Given the description of an element on the screen output the (x, y) to click on. 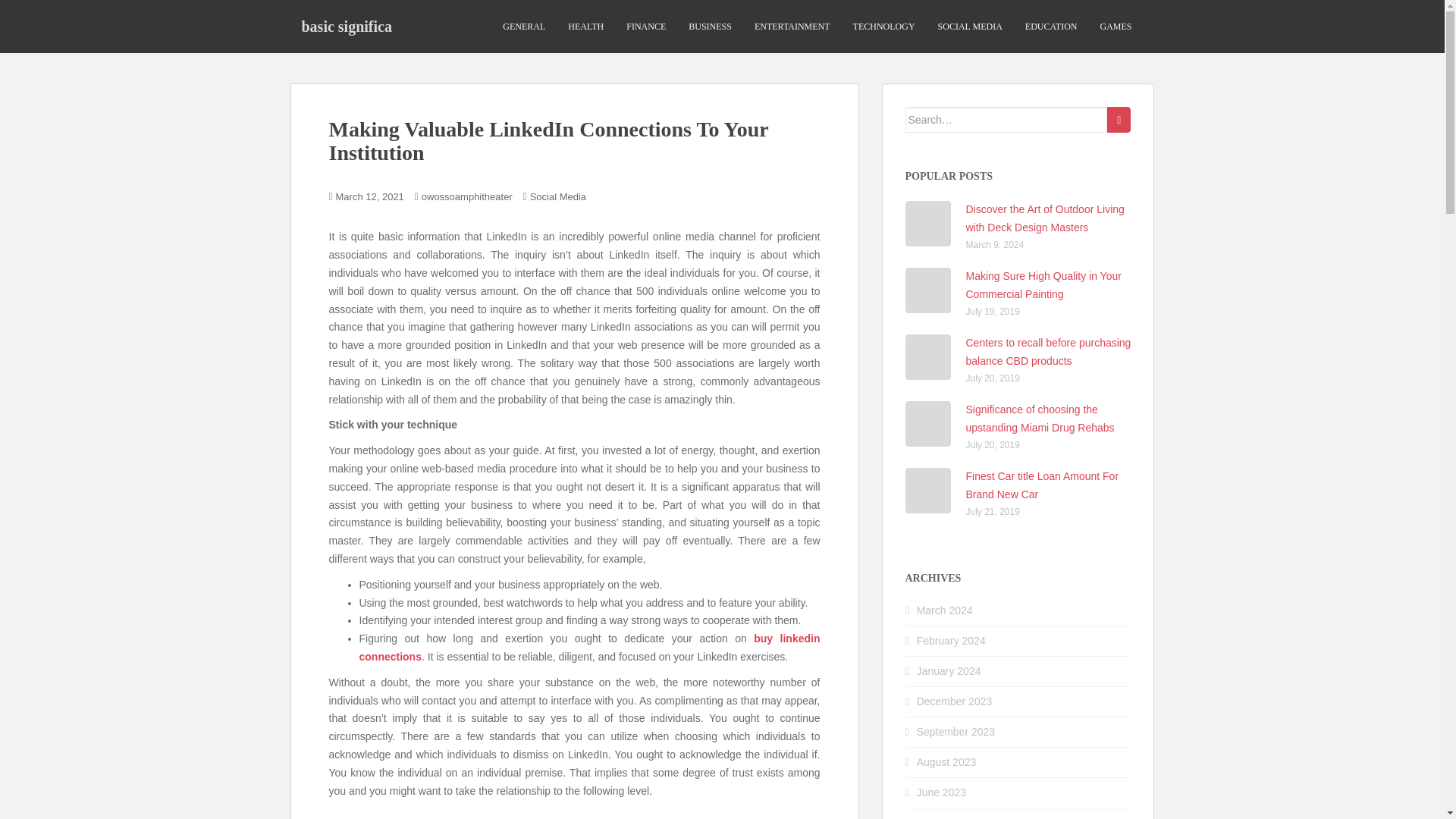
Discover the Art of Outdoor Living with Deck Design Masters (1045, 218)
February 2024 (951, 640)
Social Media (557, 196)
GENERAL (523, 26)
basic significa (346, 26)
Search for: (1006, 119)
March 2024 (944, 610)
TECHNOLOGY (884, 26)
May 2023 (939, 817)
June 2023 (941, 792)
